Given the description of an element on the screen output the (x, y) to click on. 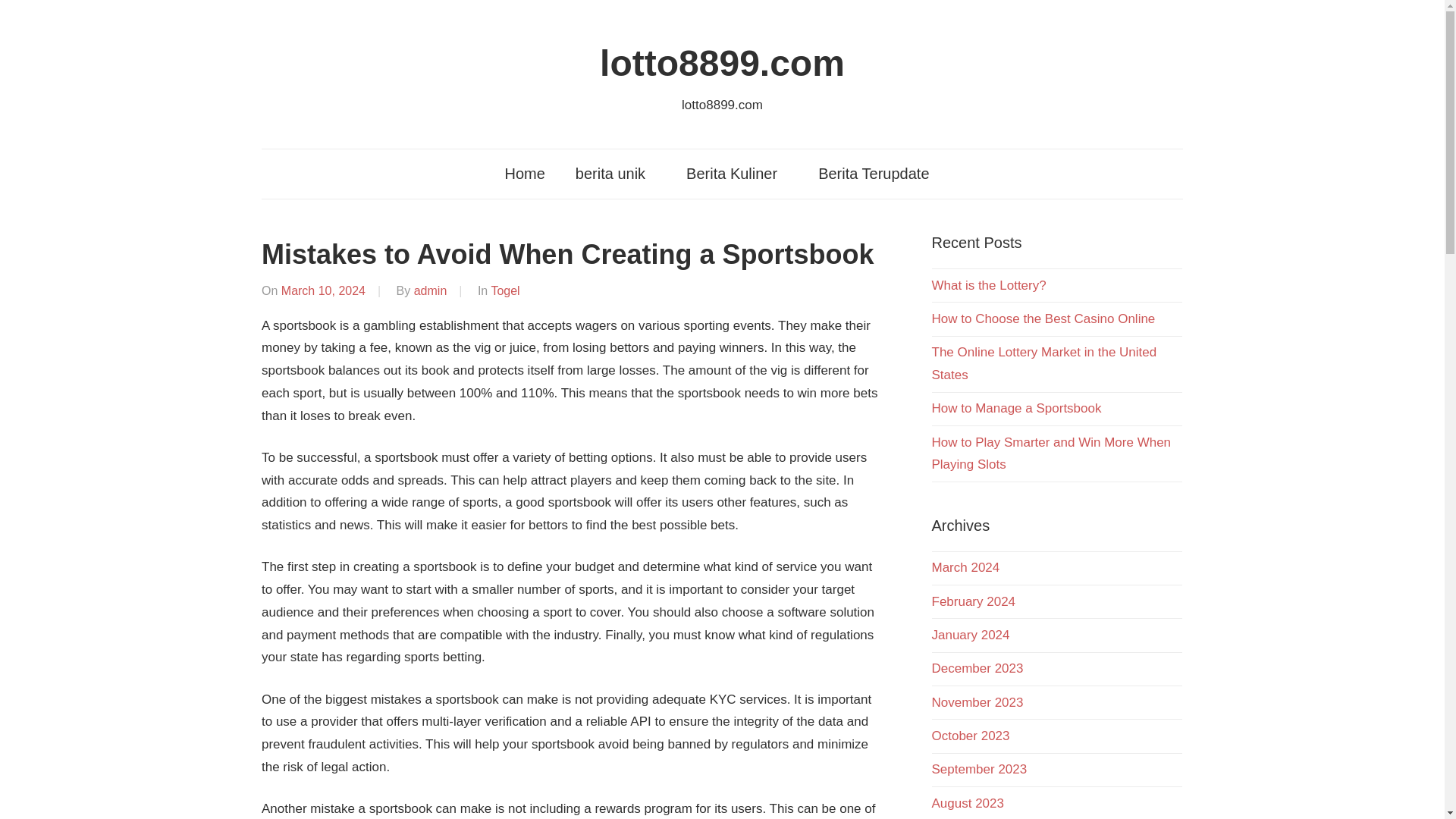
March 2024 (964, 567)
Berita Kuliner (737, 174)
Togel (504, 290)
berita unik (615, 174)
9:08 pm (323, 290)
How to Play Smarter and Win More When Playing Slots (1050, 453)
What is the Lottery? (988, 285)
How to Manage a Sportsbook (1015, 408)
admin (429, 290)
View all posts by admin (429, 290)
